Given the description of an element on the screen output the (x, y) to click on. 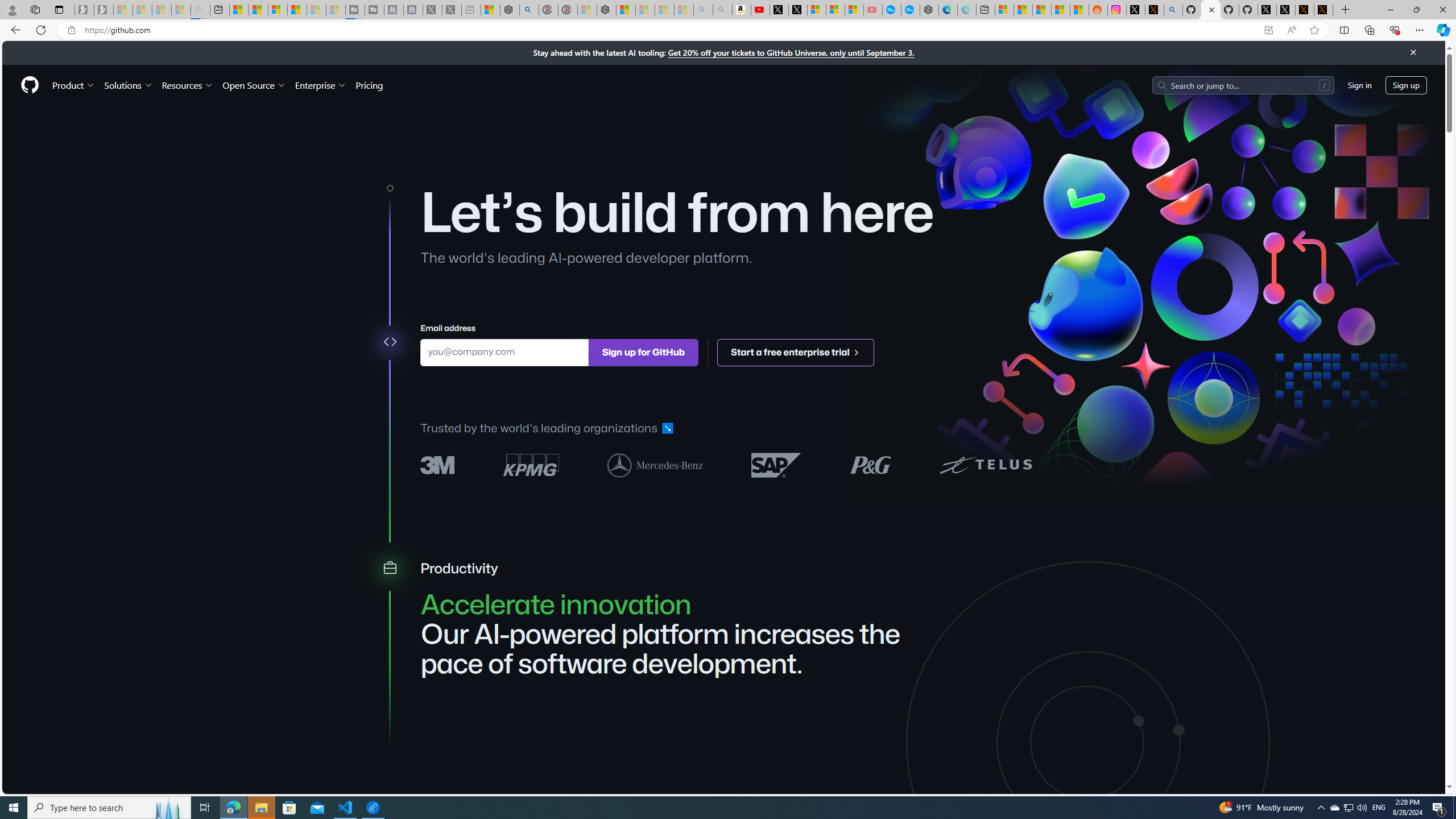
poe - Search (529, 9)
X Privacy Policy (1323, 9)
Log in to X / X (1135, 9)
Open Source (254, 84)
Email address (504, 352)
Pricing (368, 84)
Profile / X (1267, 9)
KPMG logo (531, 464)
Enterprise (319, 84)
